Given the description of an element on the screen output the (x, y) to click on. 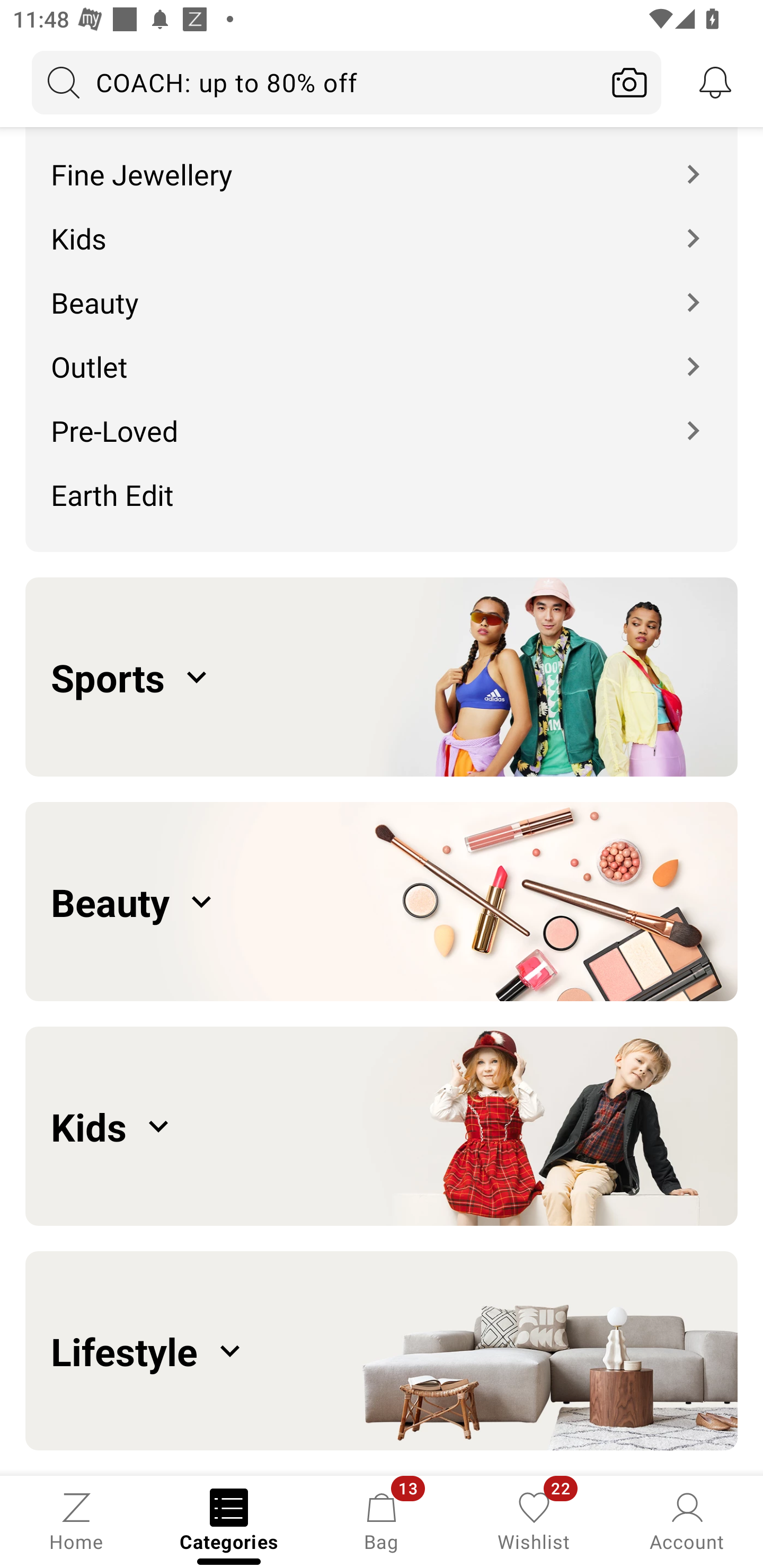
COACH: up to 80% off (314, 82)
Men (381, 127)
Fine Jewellery (381, 160)
Kids (381, 224)
Beauty (381, 289)
Outlet (381, 353)
Pre-Loved (381, 417)
Earth Edit (381, 500)
Sports (381, 676)
Beauty (381, 901)
Kids (381, 1126)
Lifestyle (381, 1350)
Home (76, 1519)
Bag, 13 new notifications Bag (381, 1519)
Wishlist, 22 new notifications Wishlist (533, 1519)
Account (686, 1519)
